Given the description of an element on the screen output the (x, y) to click on. 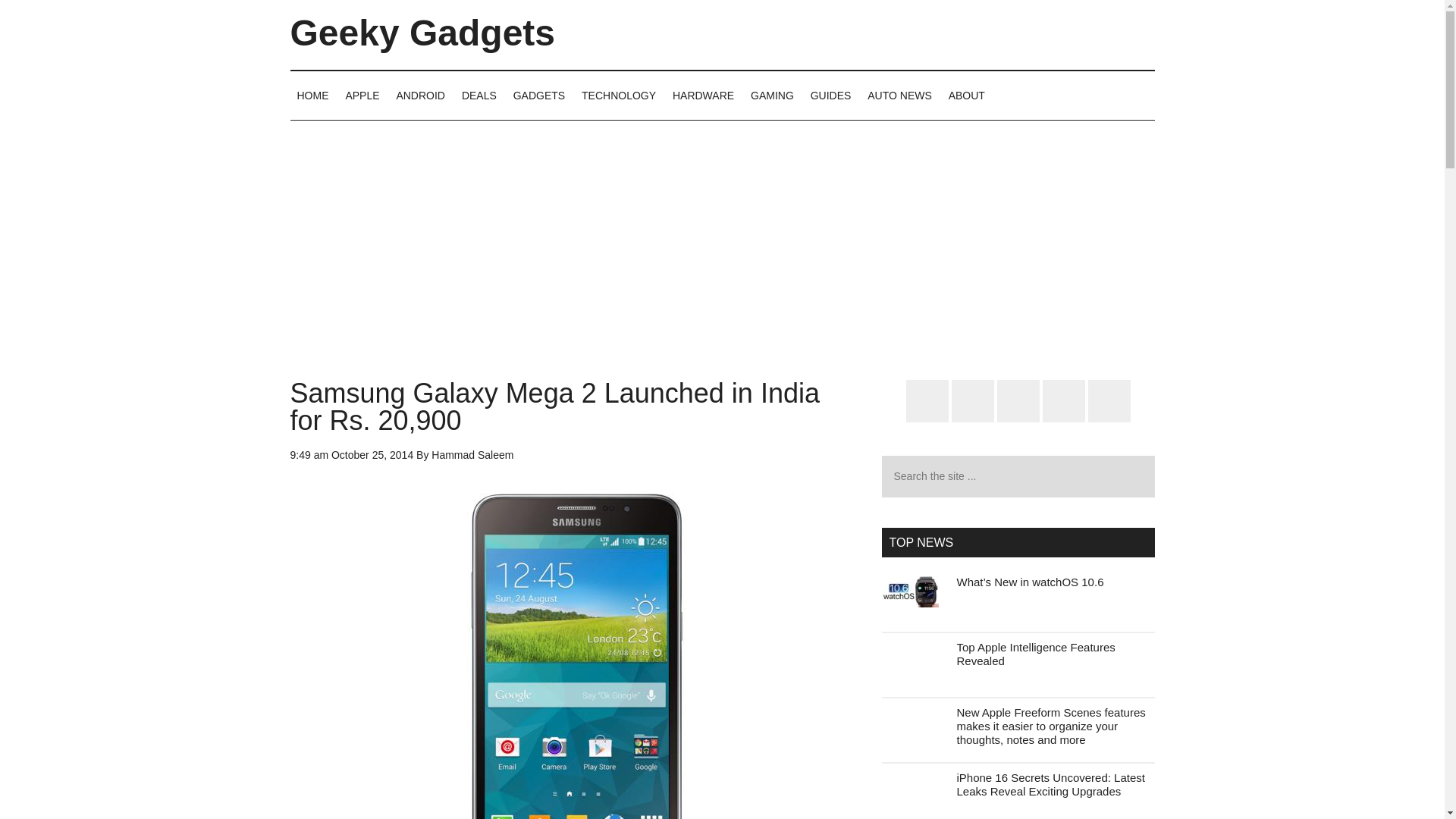
About Geeky Gadgets (966, 95)
HOME (311, 95)
GUIDES (831, 95)
Hammad Saleem (471, 454)
Geeky Gadgets (421, 33)
GADGETS (539, 95)
ABOUT (966, 95)
DEALS (478, 95)
Top Apple Intelligence Features Revealed (1035, 653)
HARDWARE (703, 95)
APPLE (361, 95)
